Given the description of an element on the screen output the (x, y) to click on. 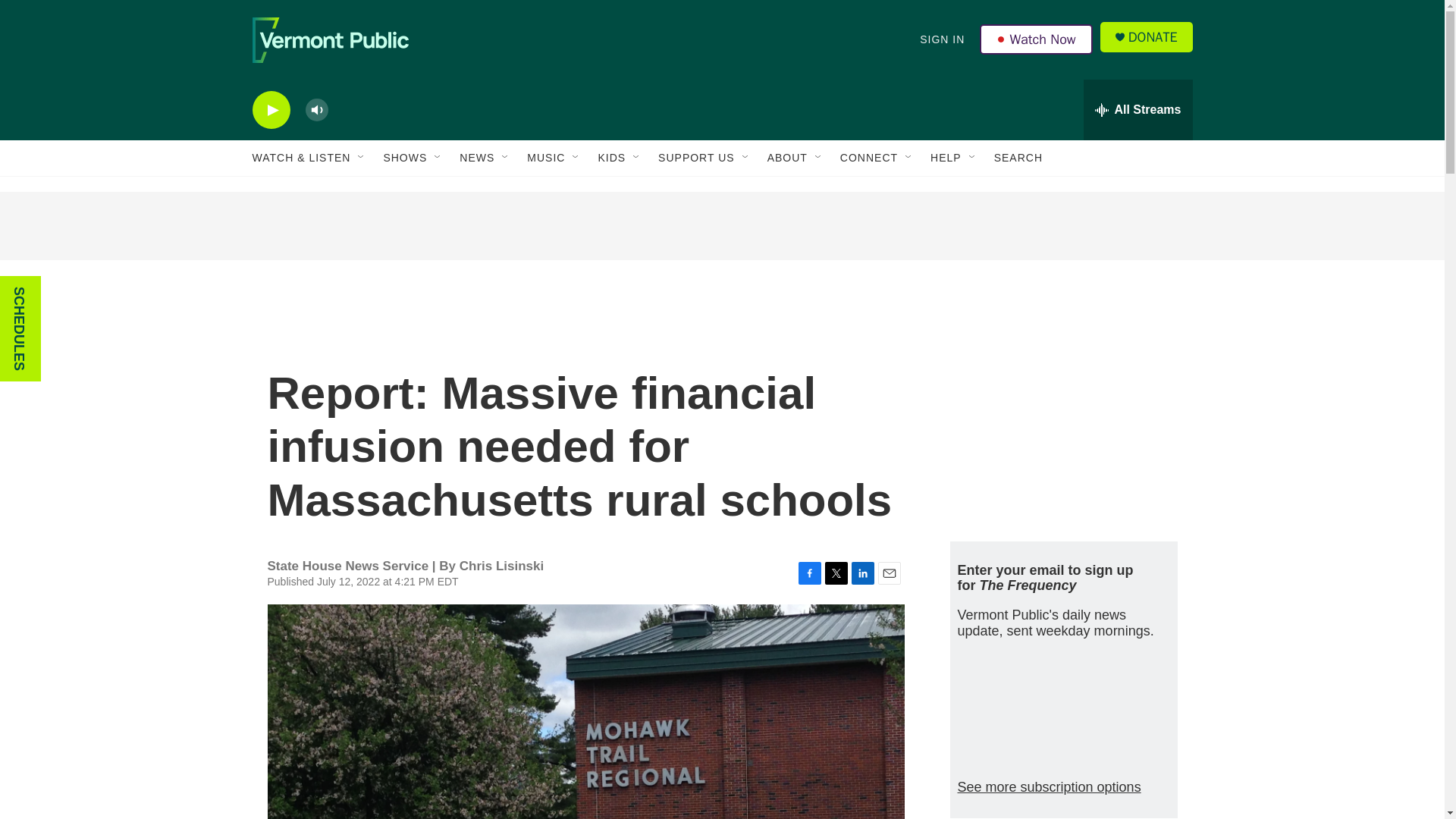
3rd party ad content (1062, 416)
3rd party ad content (721, 225)
